Given the description of an element on the screen output the (x, y) to click on. 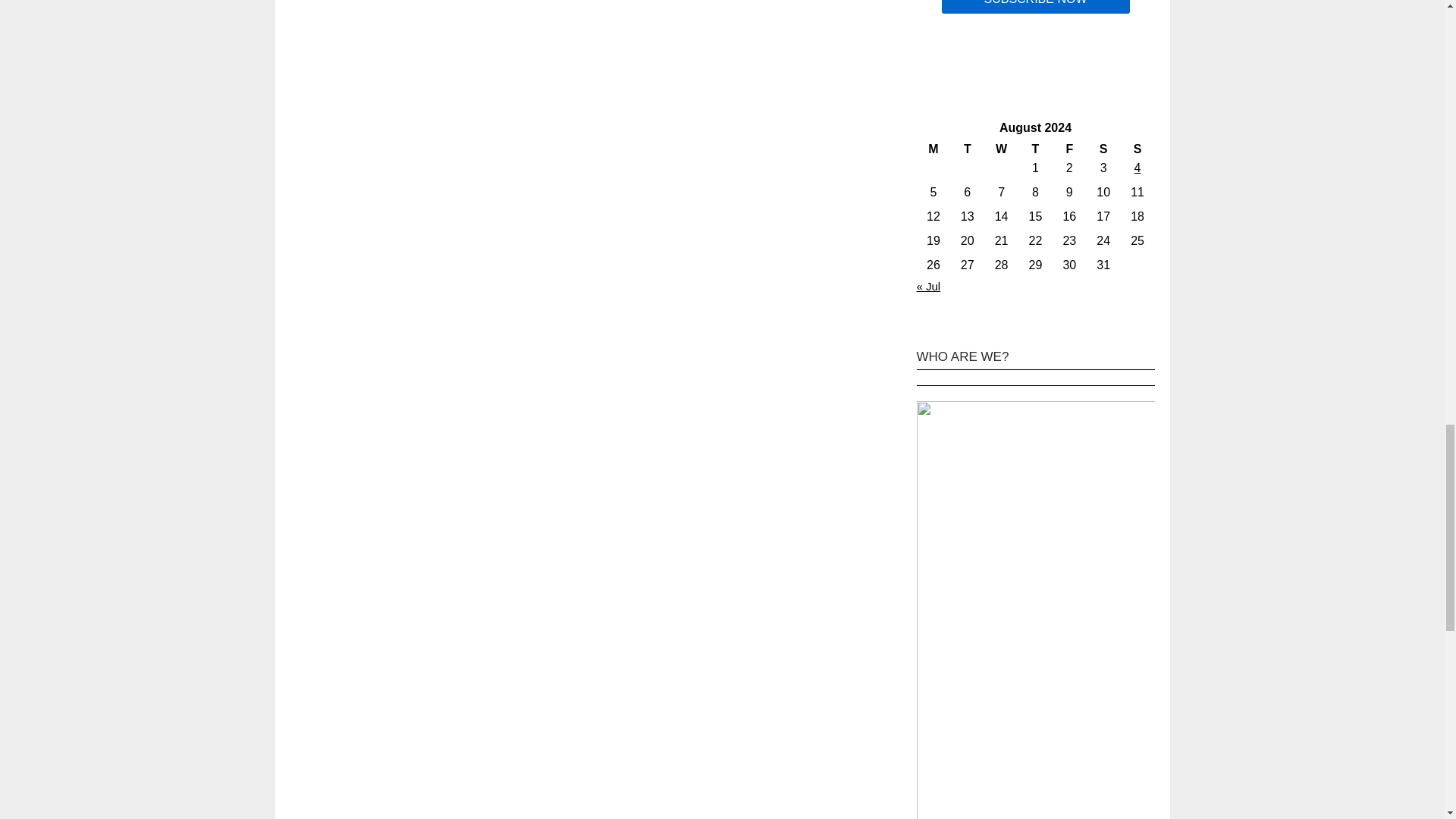
SUBSCRIBE NOW (1034, 7)
Tuesday (967, 149)
Sunday (1137, 149)
Wednesday (1000, 149)
Thursday (1034, 149)
SUBSCRIBE NOW (1034, 7)
Saturday (1103, 149)
Monday (932, 149)
Friday (1069, 149)
